Given the description of an element on the screen output the (x, y) to click on. 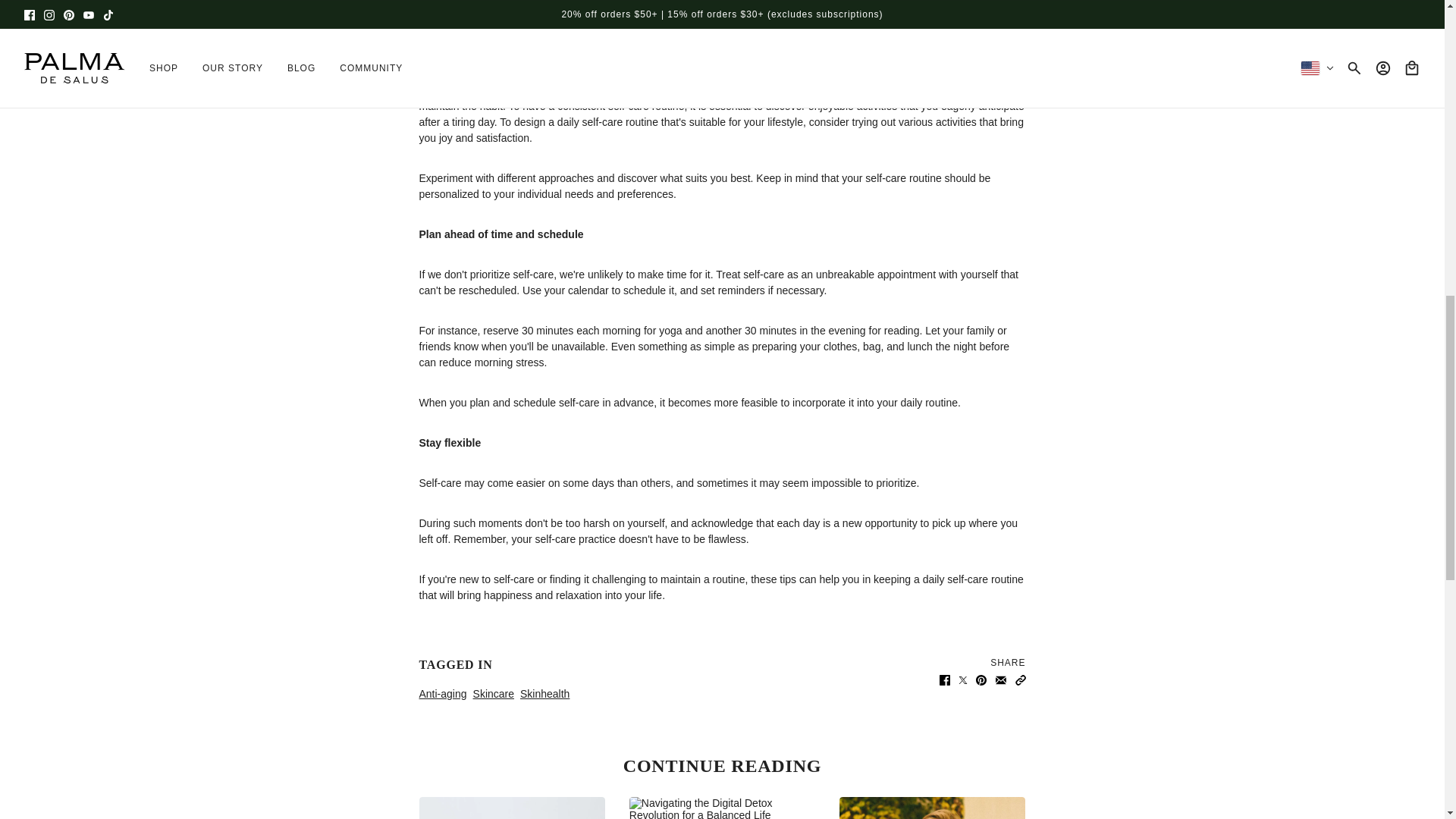
Skinhealth (544, 693)
Anti-aging (441, 693)
Skincare (493, 693)
